Given the description of an element on the screen output the (x, y) to click on. 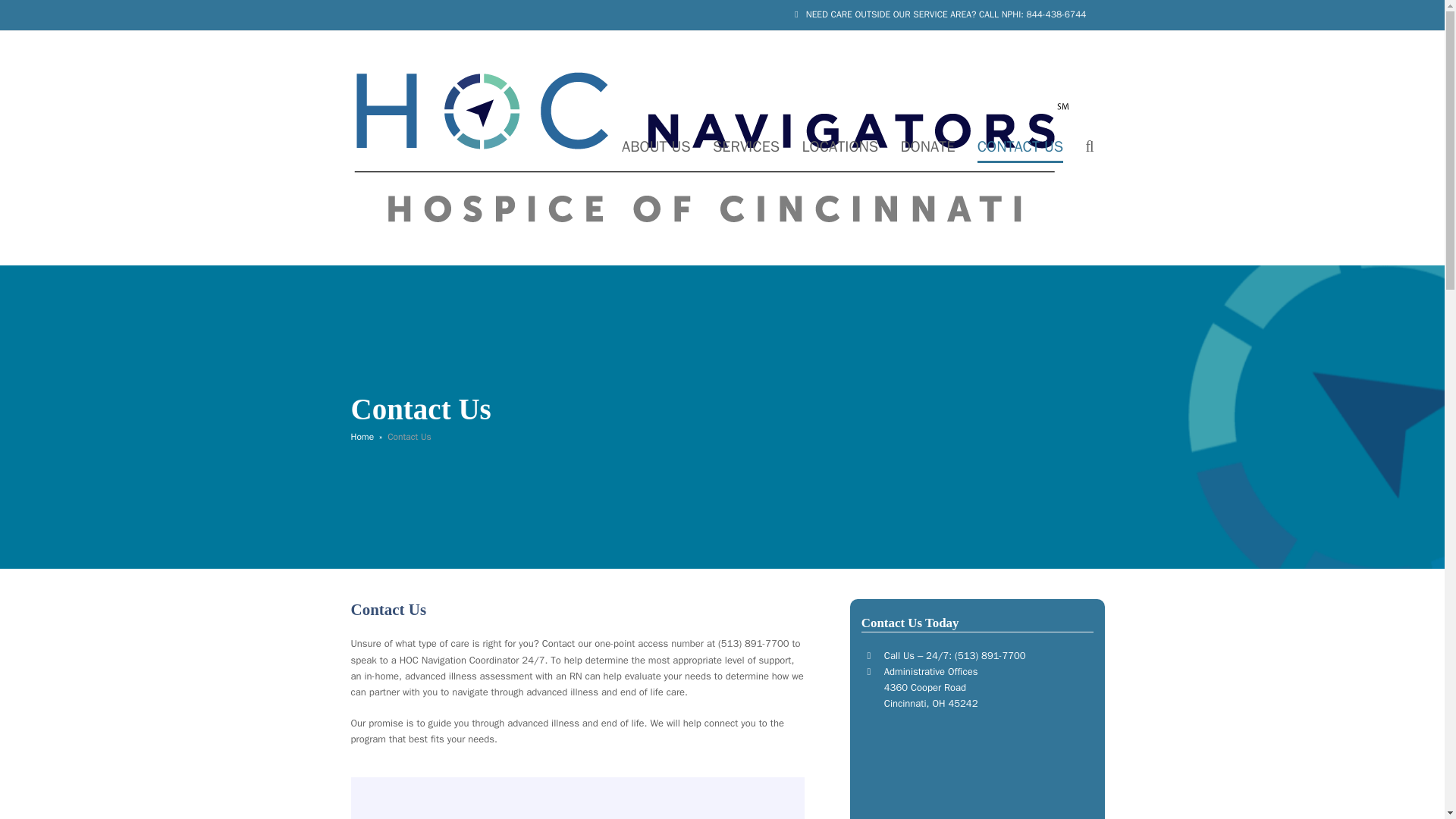
Home (362, 436)
DONATE (927, 147)
LOCATIONS (839, 147)
CONTACT US (1020, 147)
ABOUT US (655, 147)
NEED CARE OUTSIDE OUR SERVICE AREA? CALL NPHI: 844-438-6744 (946, 14)
Contact Page (576, 798)
SERVICES (745, 147)
